Given the description of an element on the screen output the (x, y) to click on. 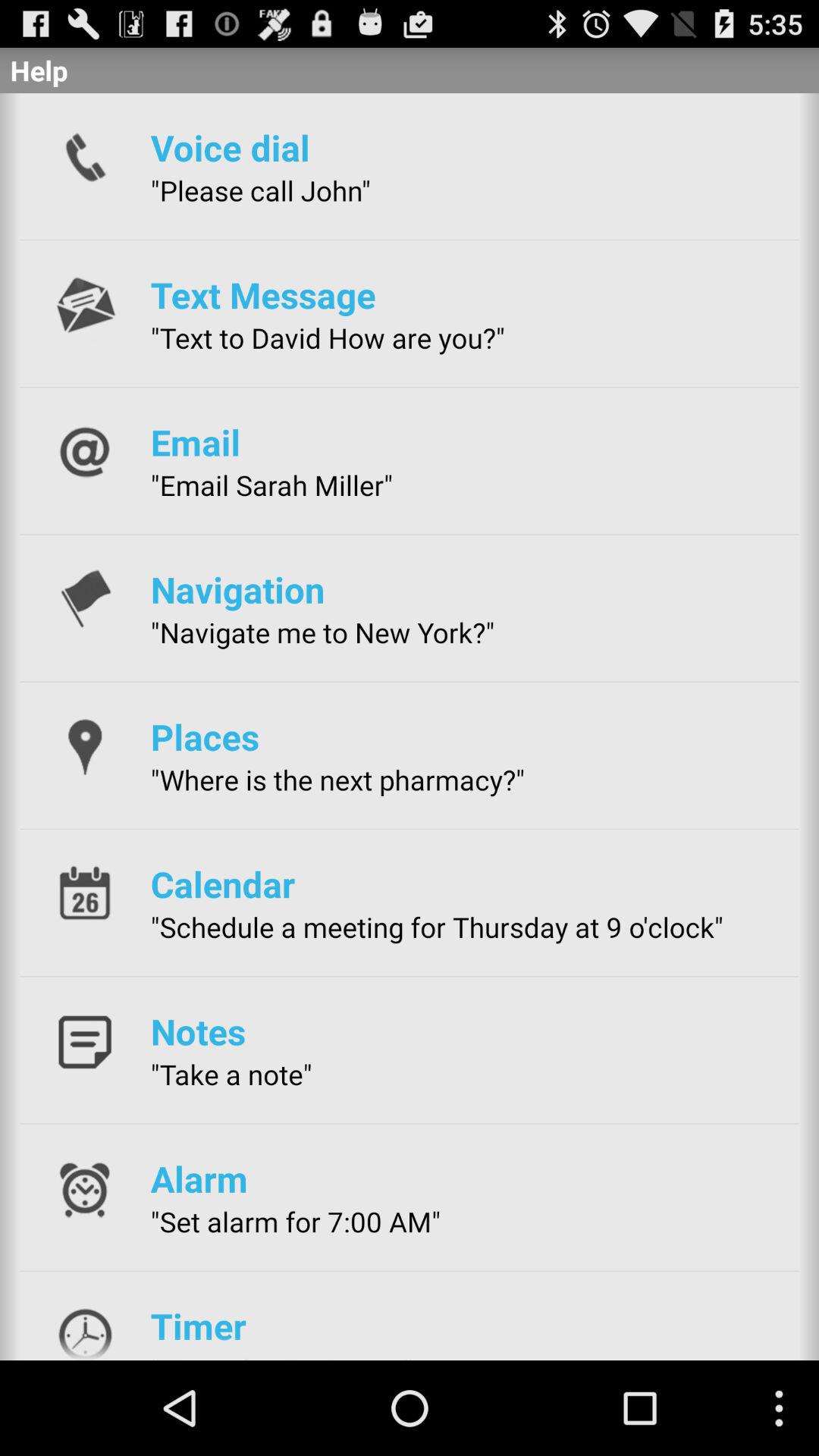
tap icon above the where is the app (204, 736)
